Given the description of an element on the screen output the (x, y) to click on. 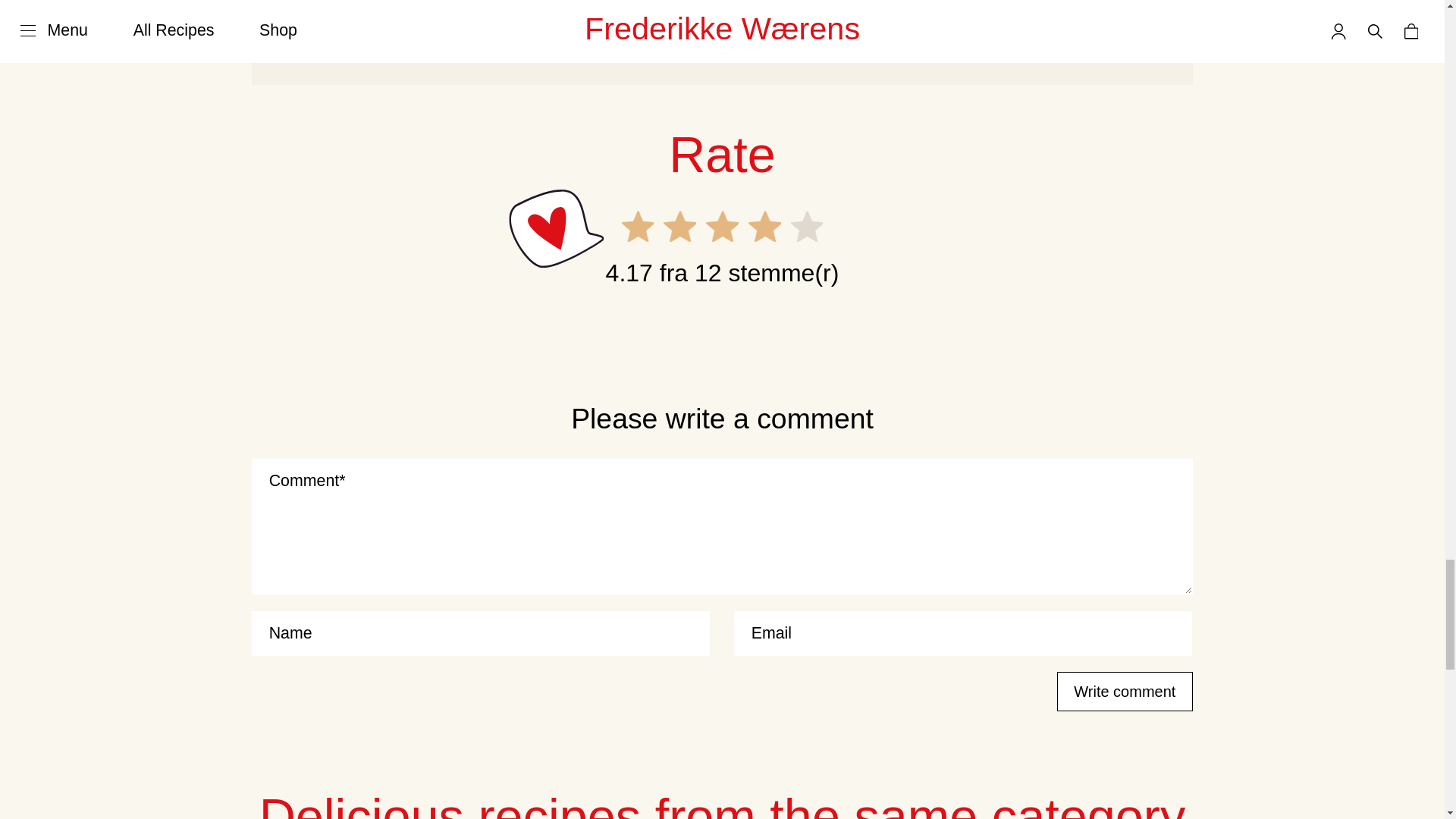
3 Stars (722, 225)
2 Stars (679, 225)
Del (415, 4)
Foodplanner (832, 4)
Write comment (1124, 691)
Pinboard (1011, 4)
Pin (540, 4)
4 Stars (764, 225)
1 Star (637, 225)
5 Stars (807, 225)
Write comment (1124, 691)
Print (671, 4)
